Given the description of an element on the screen output the (x, y) to click on. 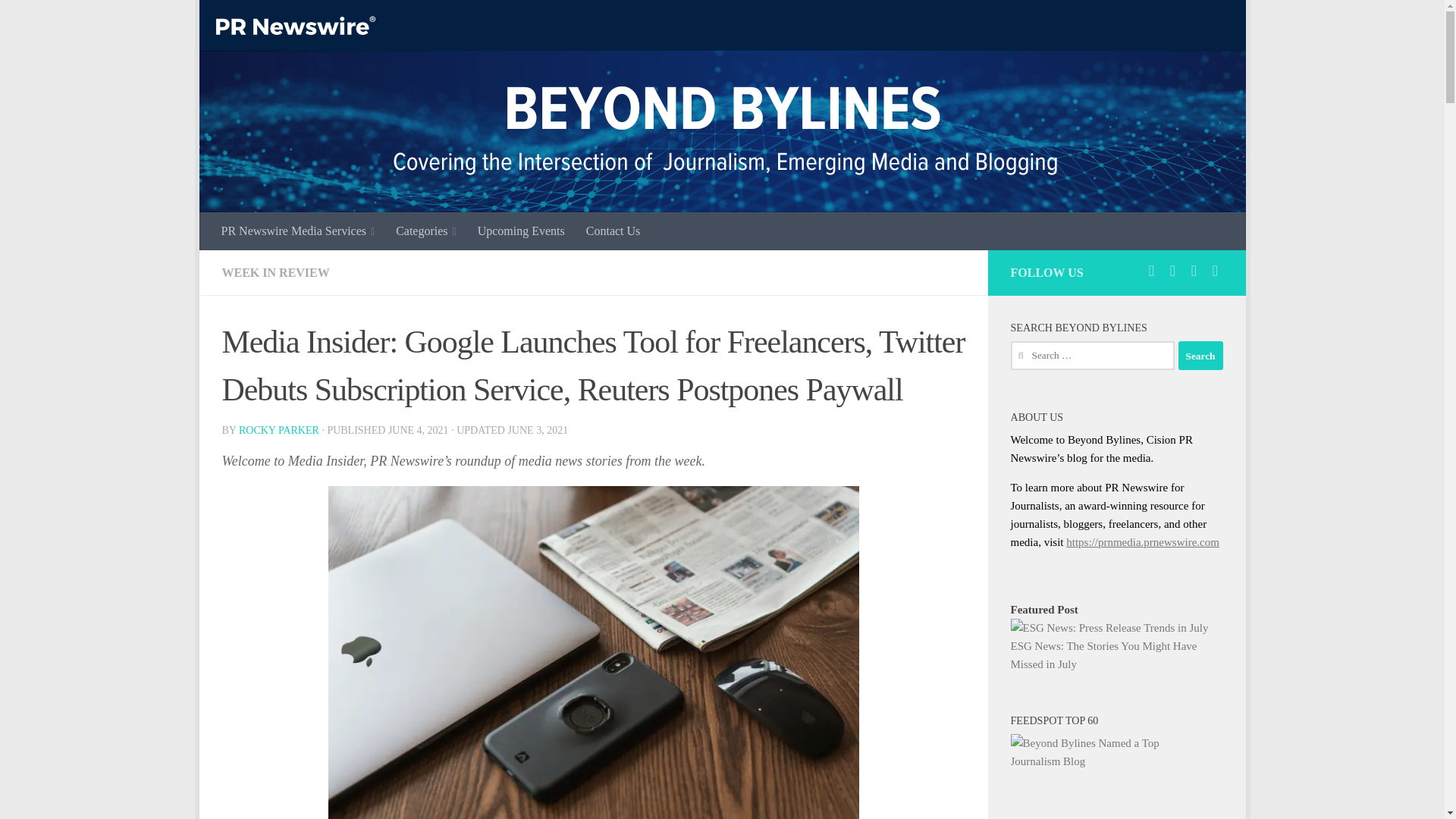
Skip to content (258, 20)
WEEK IN REVIEW (275, 272)
Posts by Rocky Parker (278, 430)
Categories (426, 231)
ROCKY PARKER (278, 430)
Search (1200, 355)
Search (1200, 355)
Contact Us (612, 231)
Upcoming Events (521, 231)
Follow us on Linkedin (1193, 270)
Follow us on Twitter (1150, 270)
Follow us on Facebook (1171, 270)
PR Newswire Media Services (298, 231)
